Given the description of an element on the screen output the (x, y) to click on. 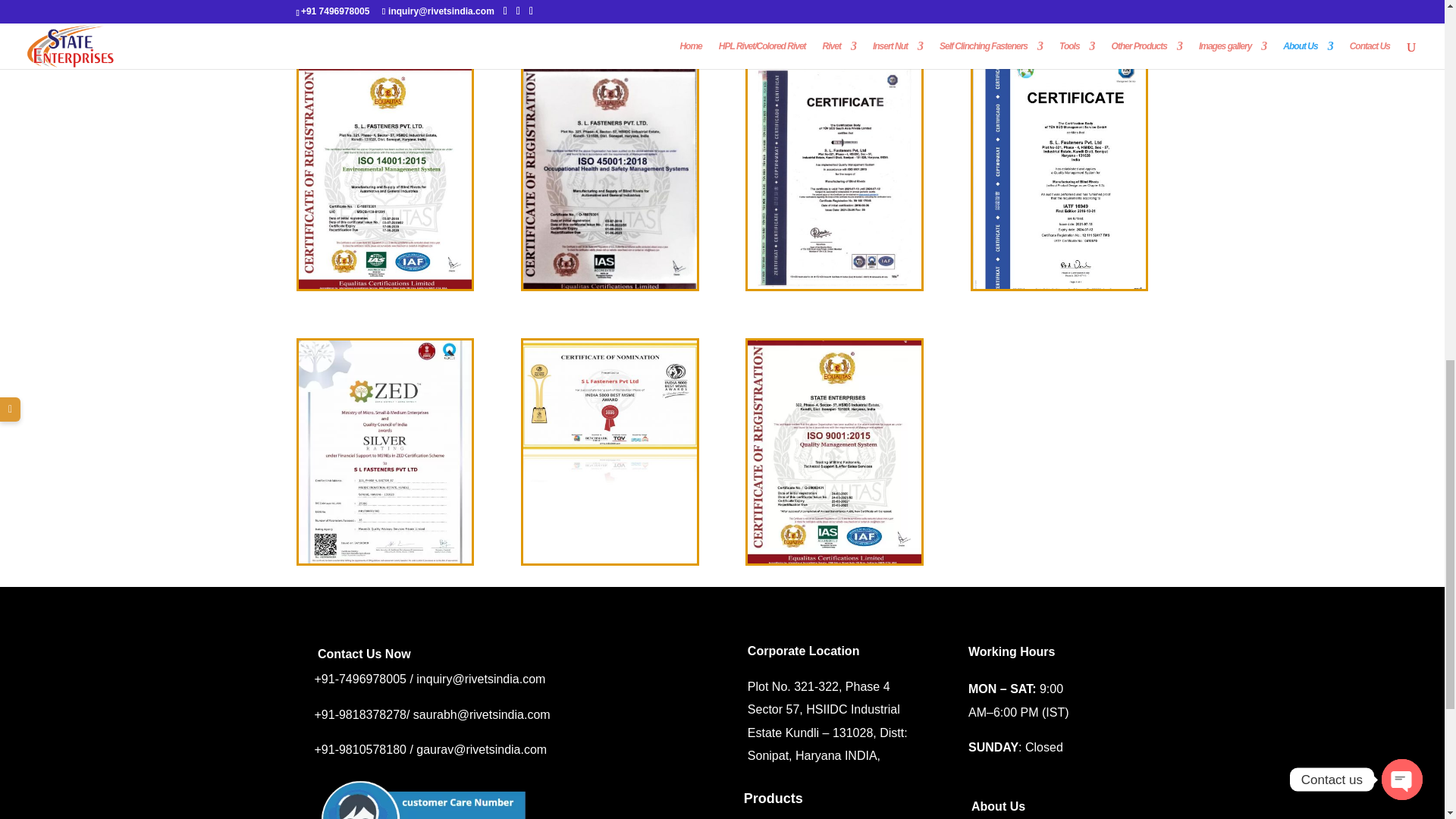
SL-Fasteners-14001-724x1024 (384, 285)
zed state enterprises (384, 559)
best msme (609, 559)
ISO STATE ENTERPRISESISO STATE ENTERPRISES (834, 559)
Capture vilk (423, 793)
